Given the description of an element on the screen output the (x, y) to click on. 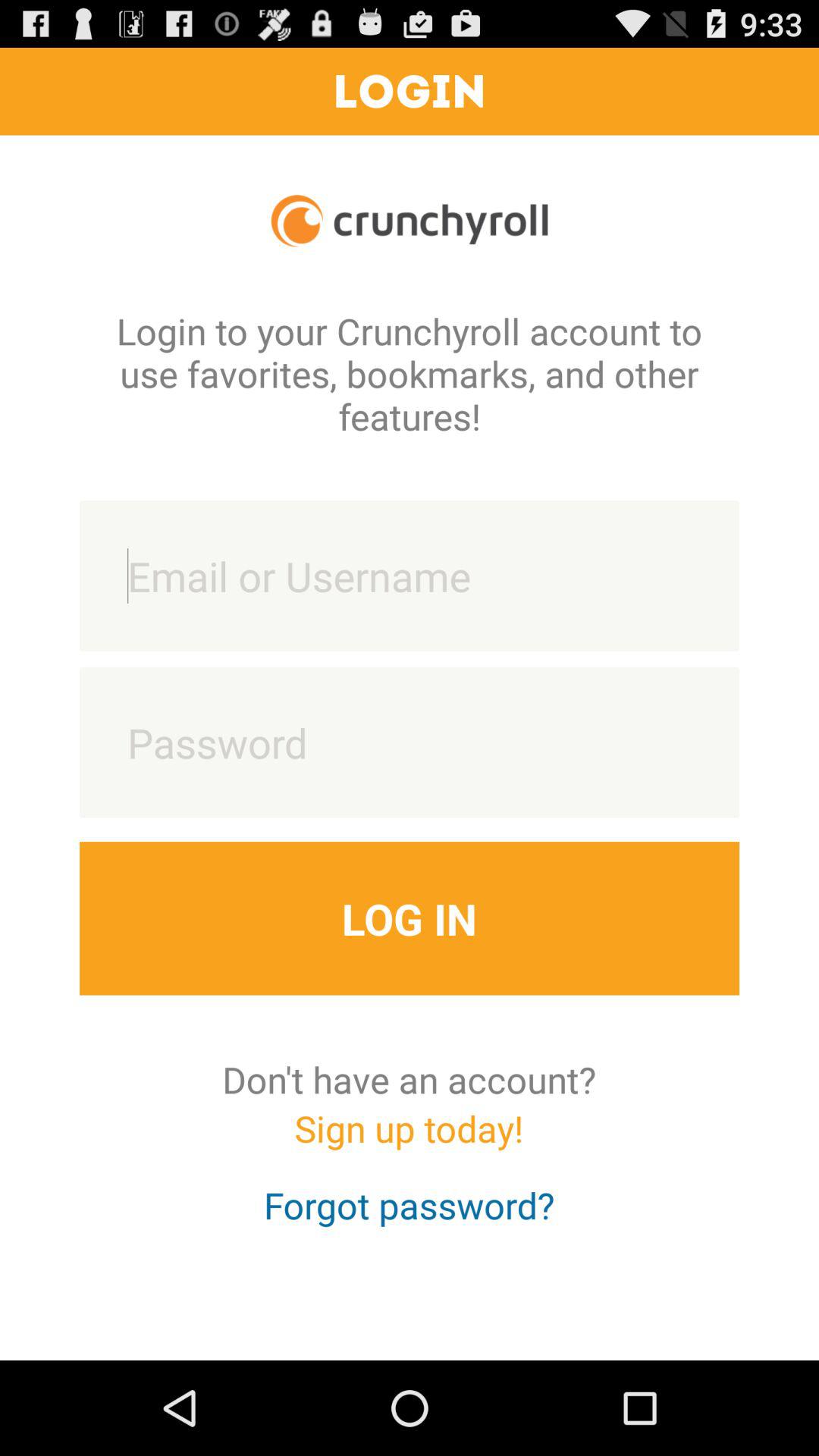
put your password to login (409, 742)
